Given the description of an element on the screen output the (x, y) to click on. 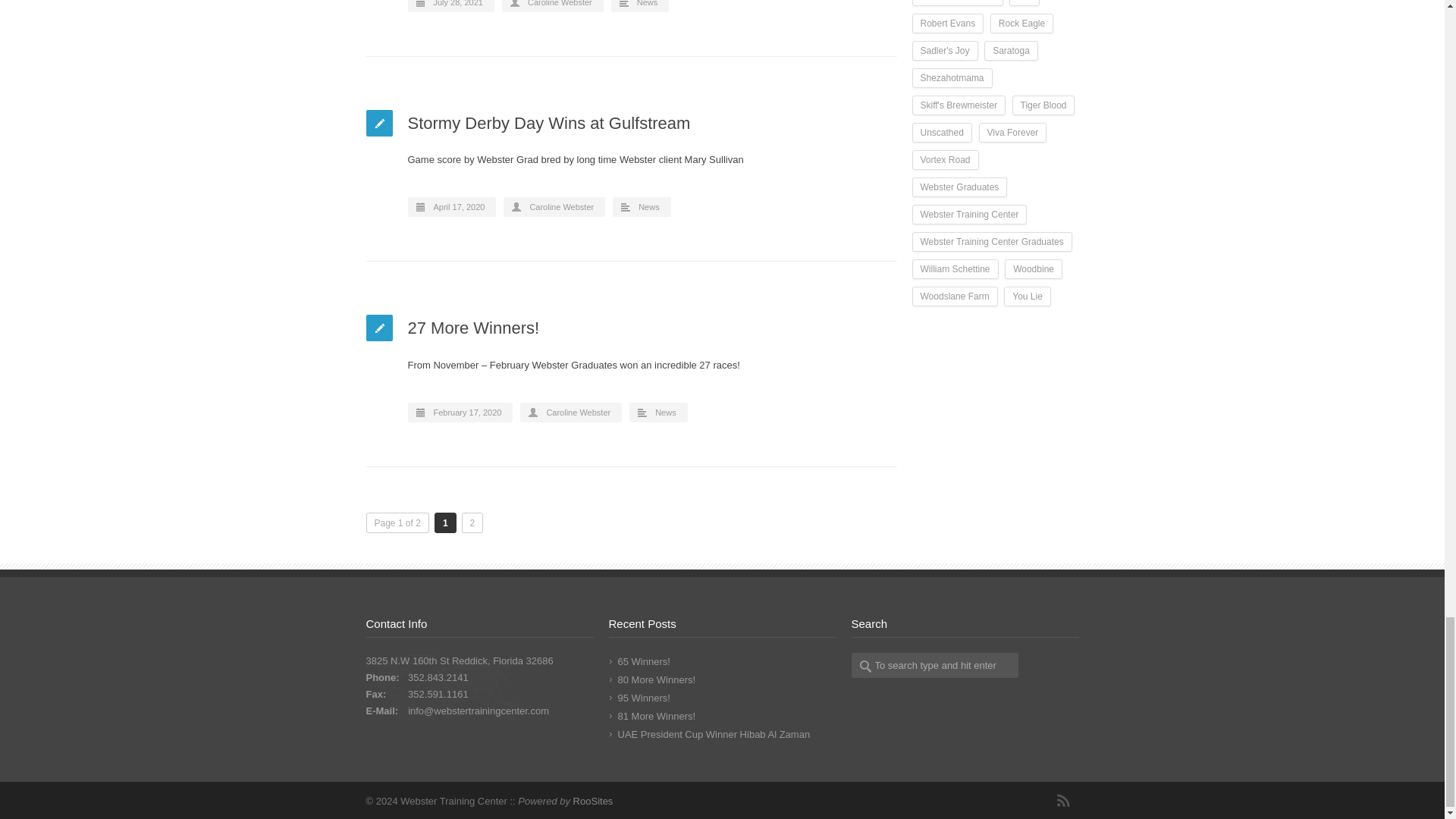
Permalink to Stormy Derby Day Wins at Gulfstream (548, 122)
To search type and hit enter (933, 665)
